Given the description of an element on the screen output the (x, y) to click on. 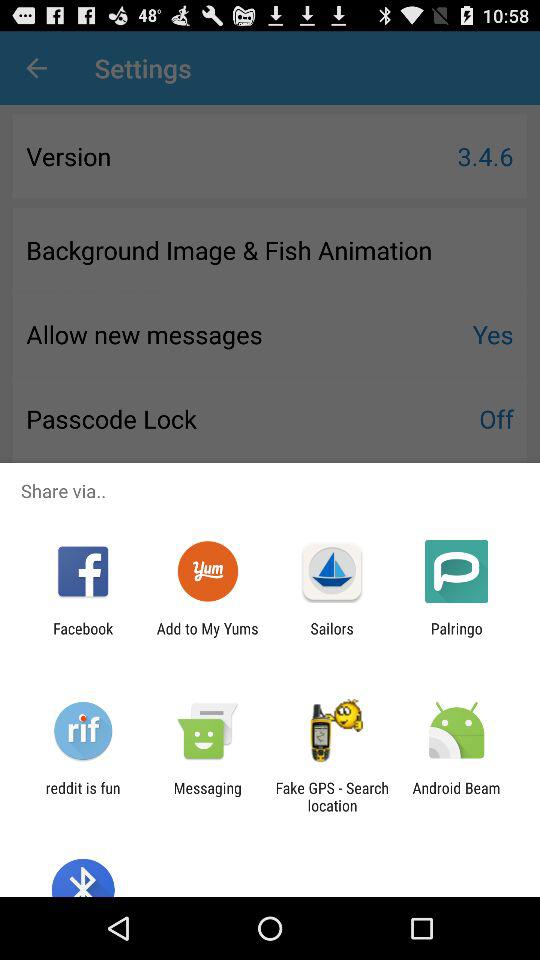
scroll to messaging (207, 796)
